Given the description of an element on the screen output the (x, y) to click on. 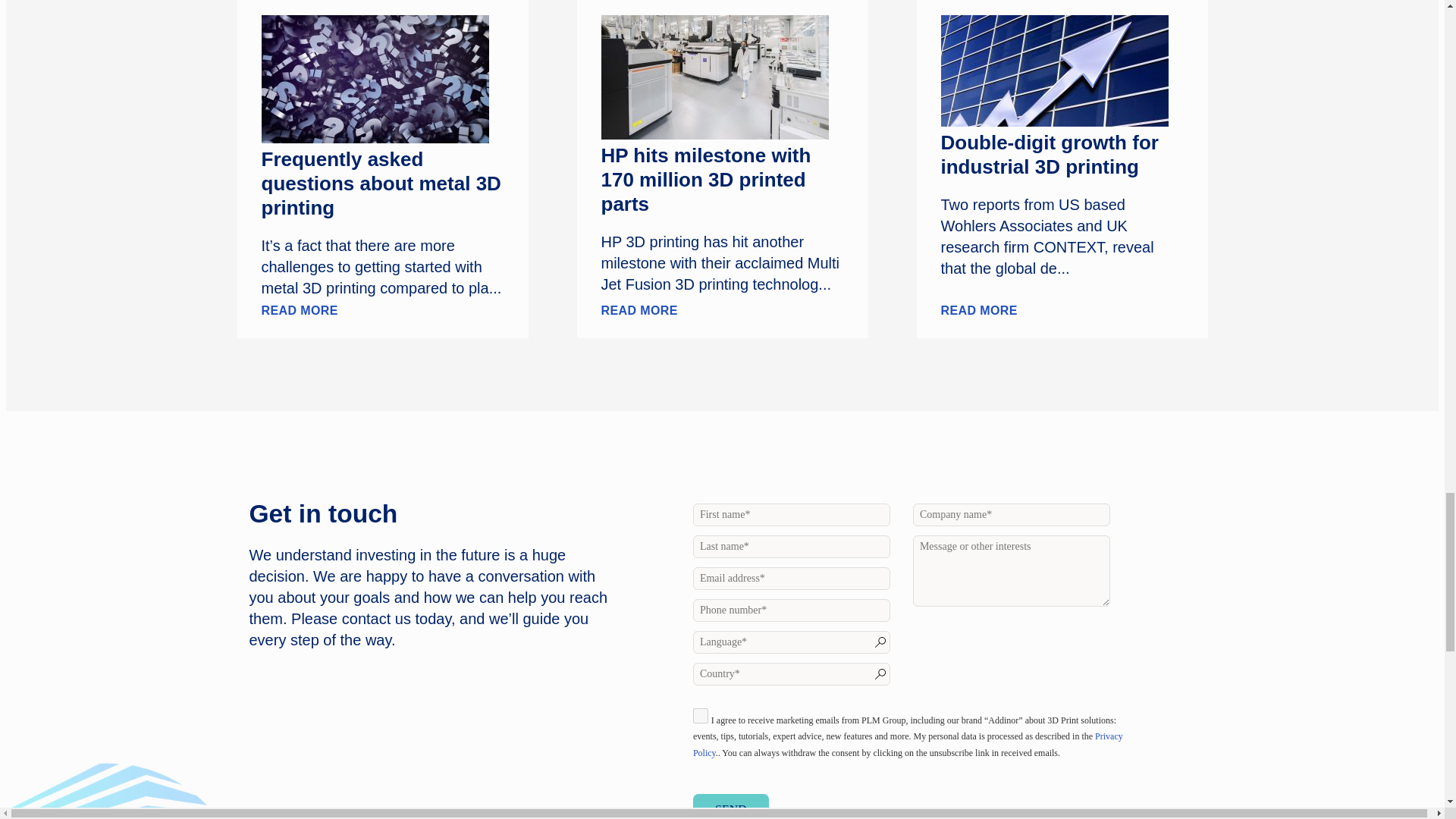
First Name (791, 514)
New Company (1010, 514)
c946a4e6-c3e5-ee11-904d-6045bd8b46c6;Email;true (700, 715)
Language (791, 641)
Email (791, 578)
Last Name (791, 546)
Visit Country (791, 673)
Address 1: Phone (791, 609)
